Given the description of an element on the screen output the (x, y) to click on. 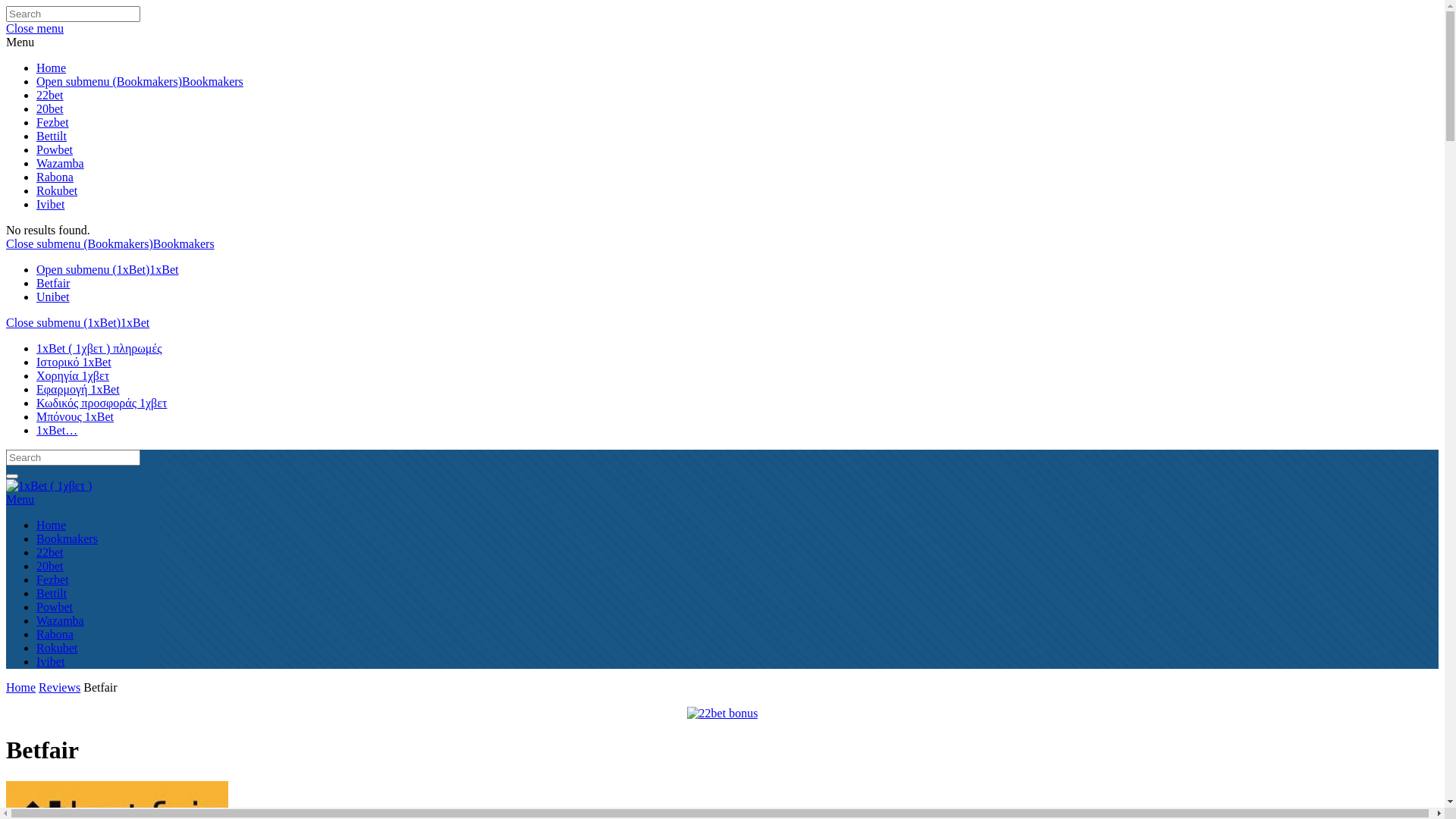
Bettilt Element type: text (51, 592)
Reviews Element type: text (59, 686)
Close submenu (1xBet) Element type: text (63, 322)
Close menu Element type: text (34, 27)
Rabona Element type: text (54, 176)
22bet Element type: text (49, 552)
Bookmakers Element type: text (66, 538)
Unibet Element type: text (52, 296)
Rokubet Element type: text (56, 190)
Home Element type: text (50, 524)
Menu Element type: text (722, 498)
Bookmakers Element type: text (183, 243)
Powbet Element type: text (54, 149)
Home Element type: text (50, 67)
Wazamba Element type: text (60, 620)
Home Element type: text (20, 686)
20bet Element type: text (49, 108)
Rabona Element type: text (54, 633)
20bet Element type: text (49, 565)
Wazamba Element type: text (60, 162)
Ivibet Element type: text (50, 661)
Powbet Element type: text (54, 606)
Open submenu (Bookmakers) Element type: text (109, 81)
Ivibet Element type: text (50, 203)
Menu Element type: text (20, 41)
22bet Element type: text (49, 94)
1xBet Element type: text (134, 322)
Close submenu (Bookmakers) Element type: text (79, 243)
Fezbet Element type: text (52, 122)
Fezbet Element type: text (52, 579)
Bookmakers Element type: text (212, 81)
Bettilt Element type: text (51, 135)
Rokubet Element type: text (56, 647)
1xBet Element type: text (163, 269)
Open submenu (1xBet) Element type: text (92, 269)
Betfair Element type: text (52, 282)
